Given the description of an element on the screen output the (x, y) to click on. 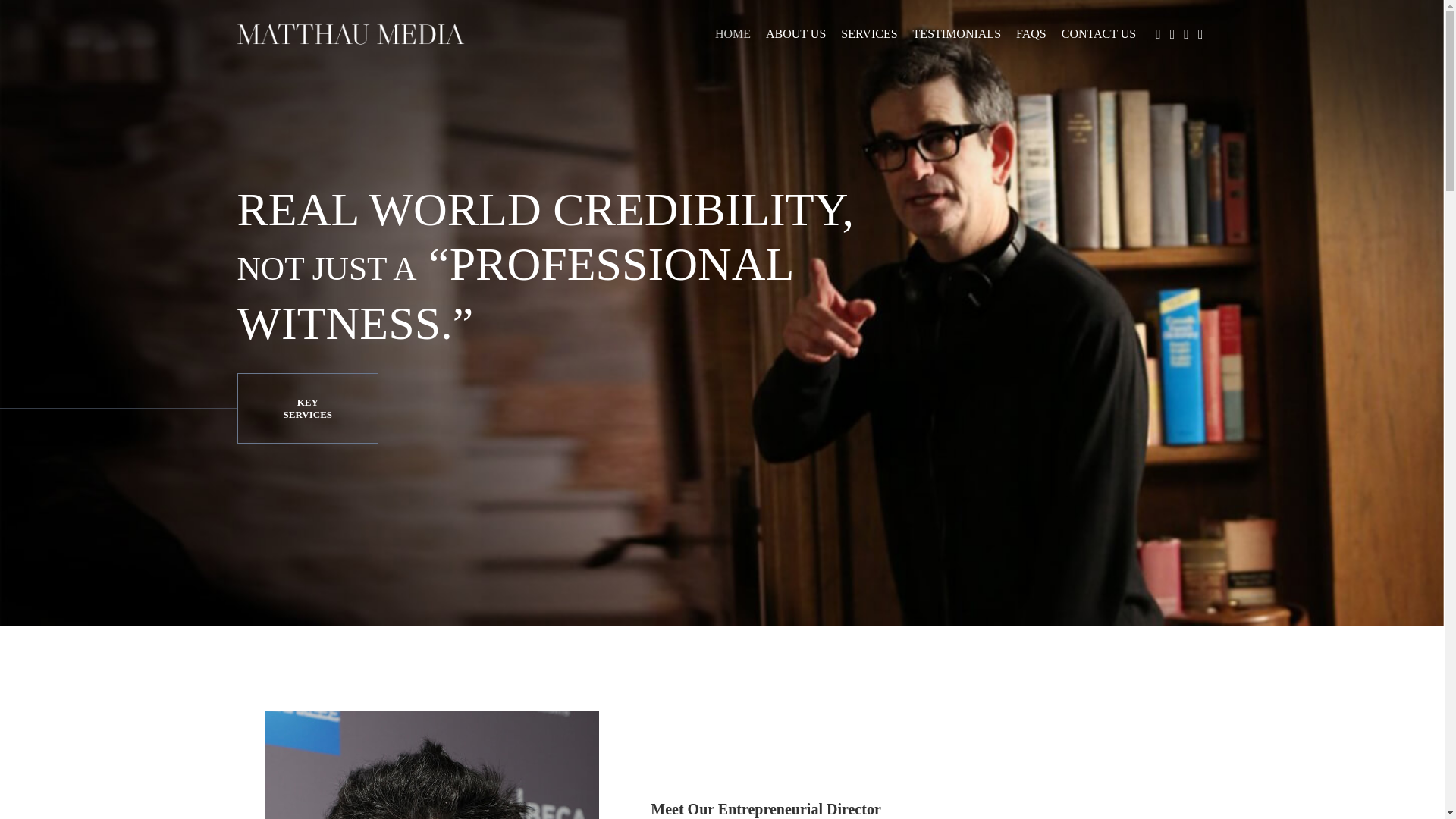
KEY SERVICES (306, 408)
Services (306, 408)
CONTACT US (1098, 33)
HOME (732, 33)
ABOUT US (795, 33)
SERVICES (868, 33)
TESTIMONIALS (956, 33)
FAQS (1031, 33)
